Given the description of an element on the screen output the (x, y) to click on. 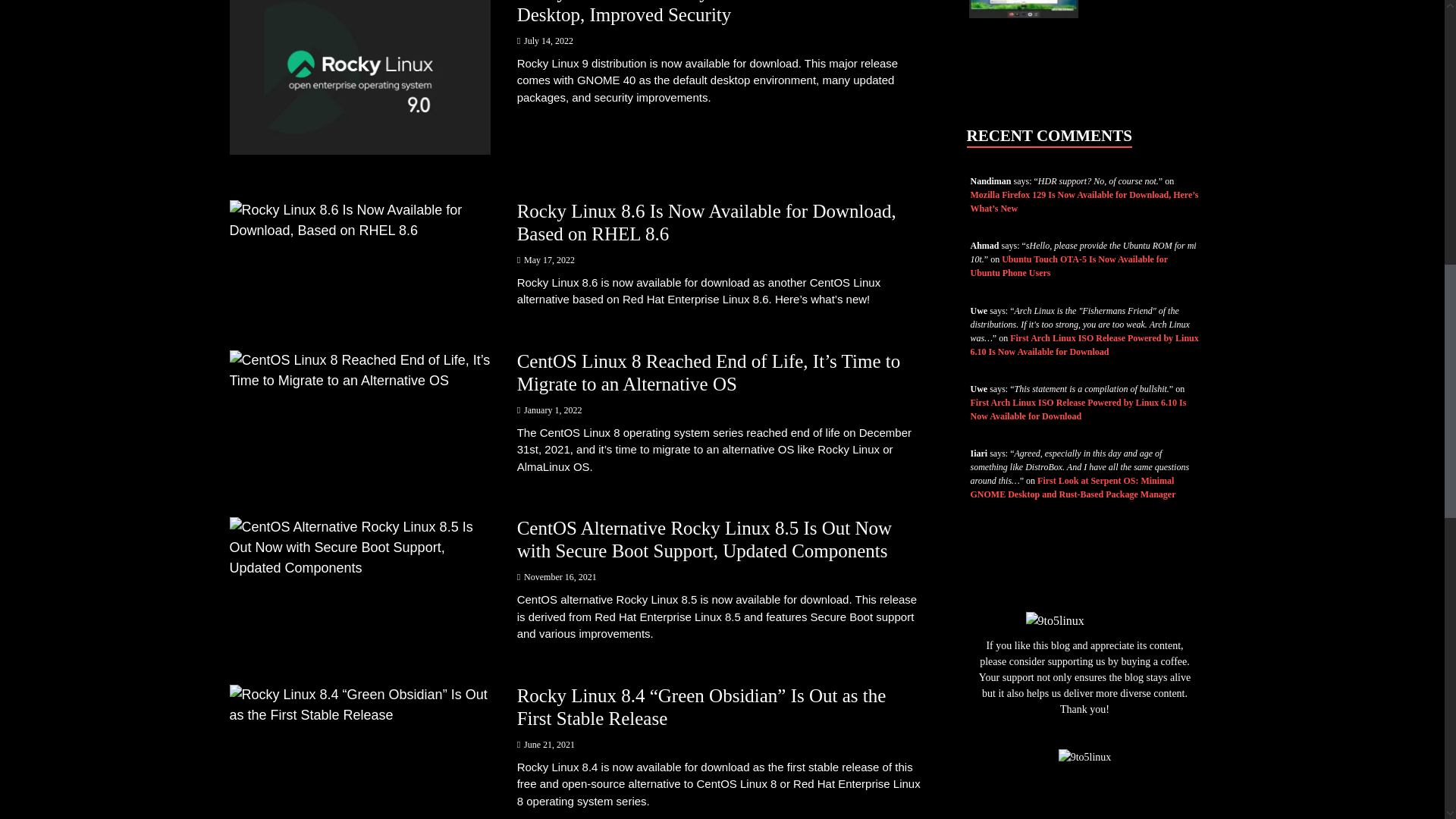
9to5Linux (1085, 756)
9to5Linux (1054, 620)
